Given the description of an element on the screen output the (x, y) to click on. 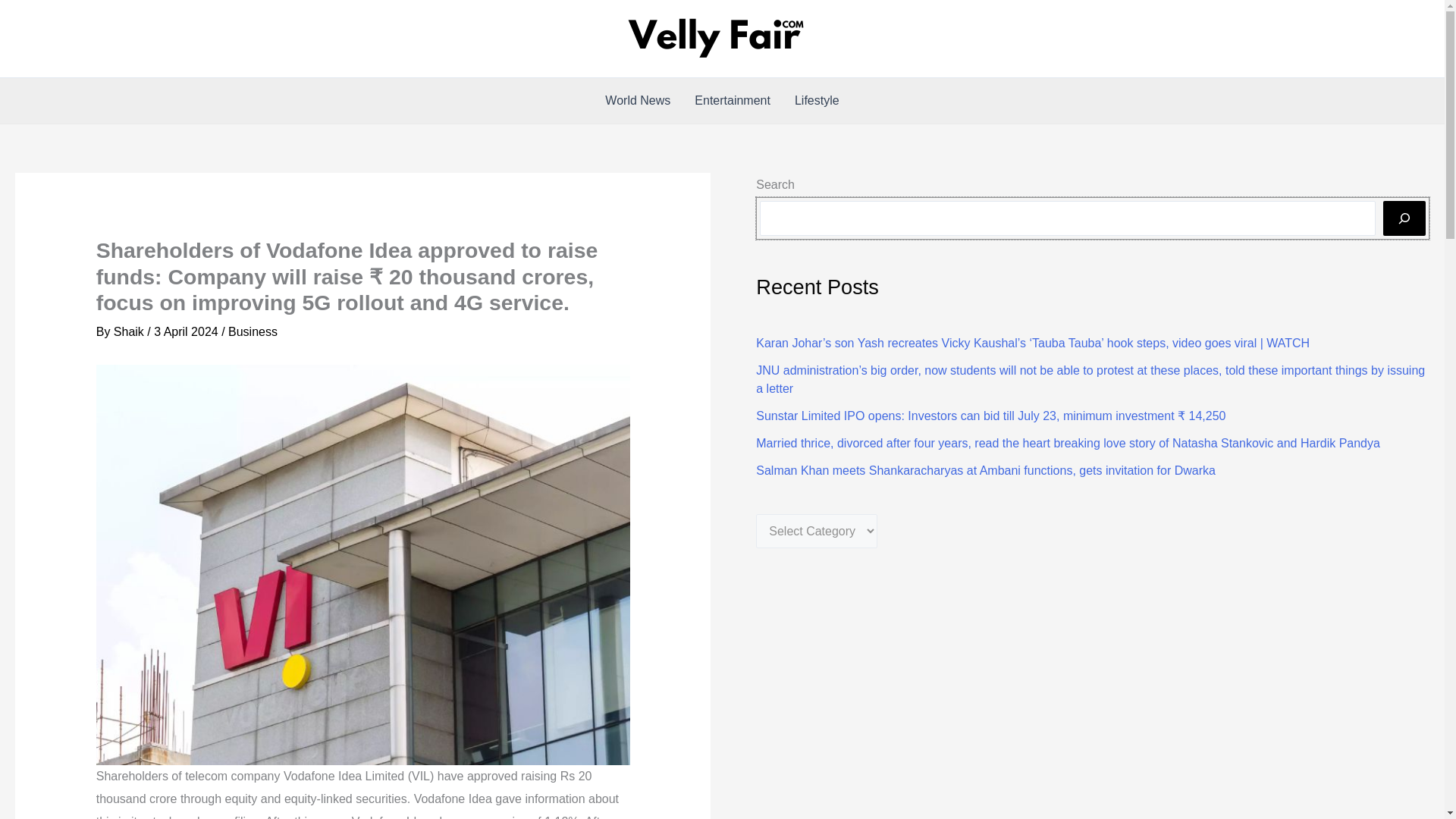
Entertainment (732, 100)
Business (253, 331)
World News (637, 100)
Shaik (130, 331)
Lifestyle (817, 100)
View all posts by Shaik (130, 331)
